Given the description of an element on the screen output the (x, y) to click on. 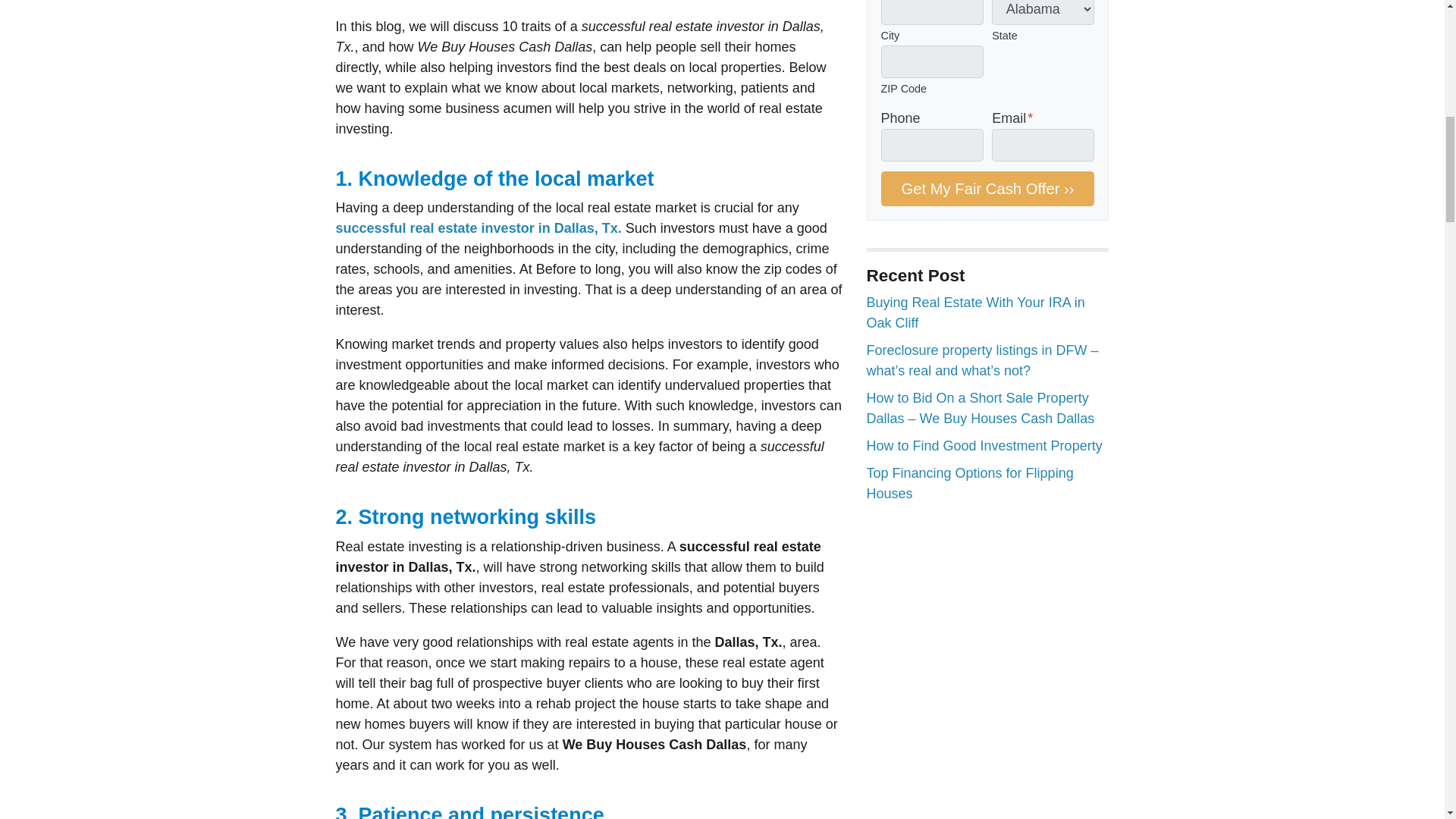
Buying Real Estate With Your IRA in Oak Cliff (975, 312)
successful real estate investor in Dallas, Tx. (477, 227)
